Given the description of an element on the screen output the (x, y) to click on. 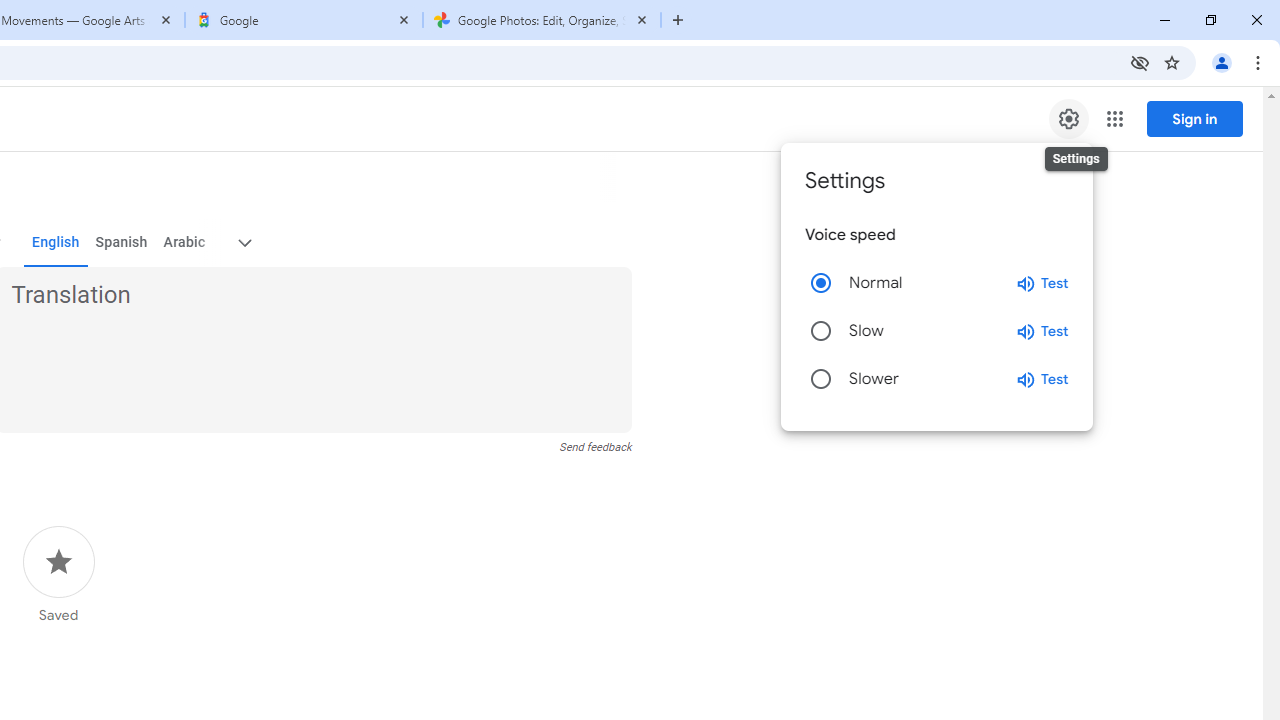
More target languages (244, 242)
Arabic (183, 242)
Test normal speed (1041, 282)
Send feedback (595, 447)
Saved (57, 575)
Slow (820, 330)
Test slow speed (1041, 331)
